Given the description of an element on the screen output the (x, y) to click on. 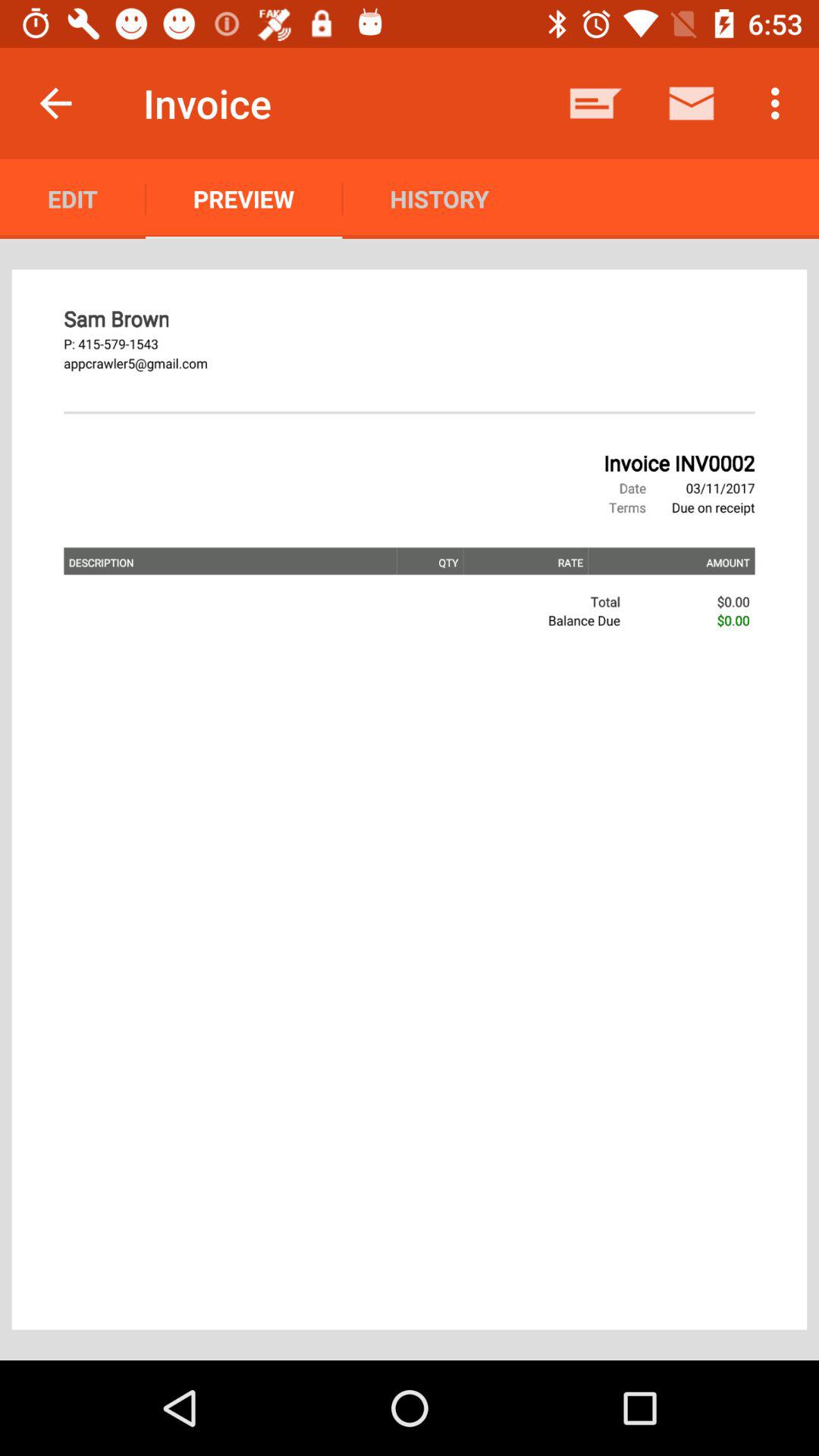
flip until edit item (72, 198)
